Given the description of an element on the screen output the (x, y) to click on. 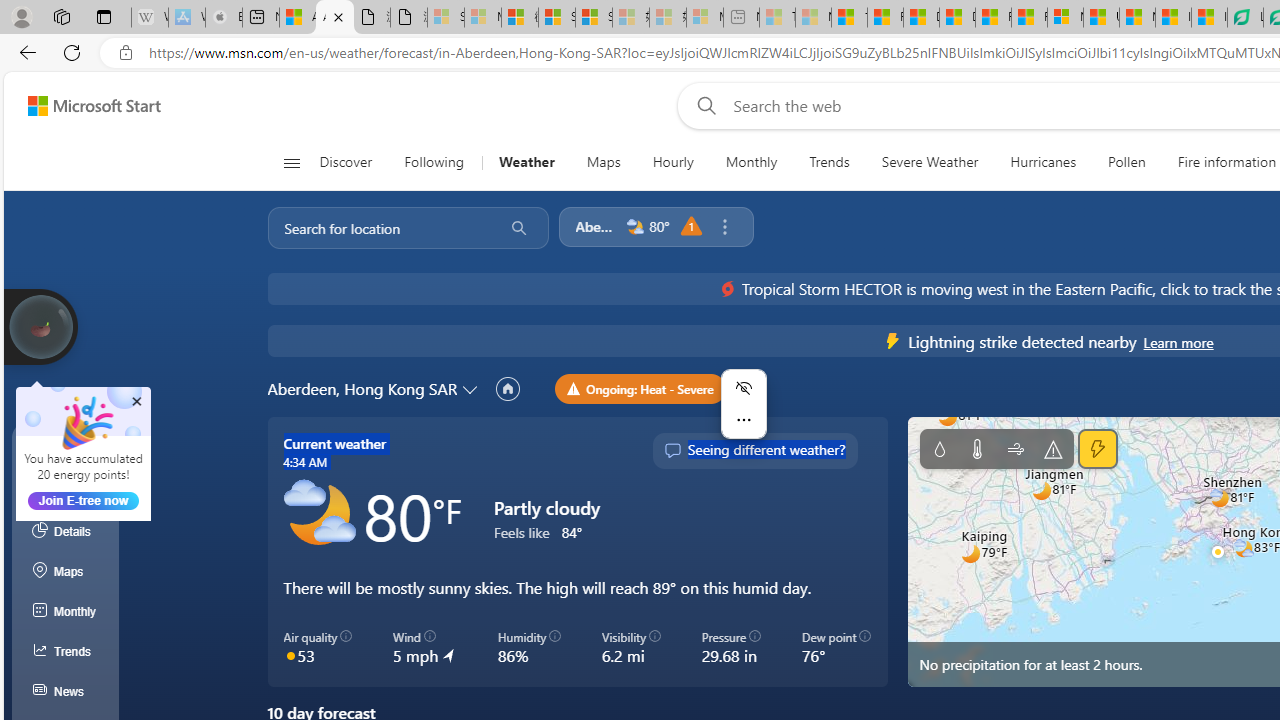
Lightning strike detected nearby (1178, 341)
Seeing different weather? (754, 450)
Air quality 53 (317, 647)
Temperature (976, 449)
Top Stories - MSN - Sleeping (777, 17)
Severe Weather (929, 162)
Food and Drink - MSN (884, 17)
Join us in planting real trees to help our planet! (40, 327)
Change location (472, 388)
